Given the description of an element on the screen output the (x, y) to click on. 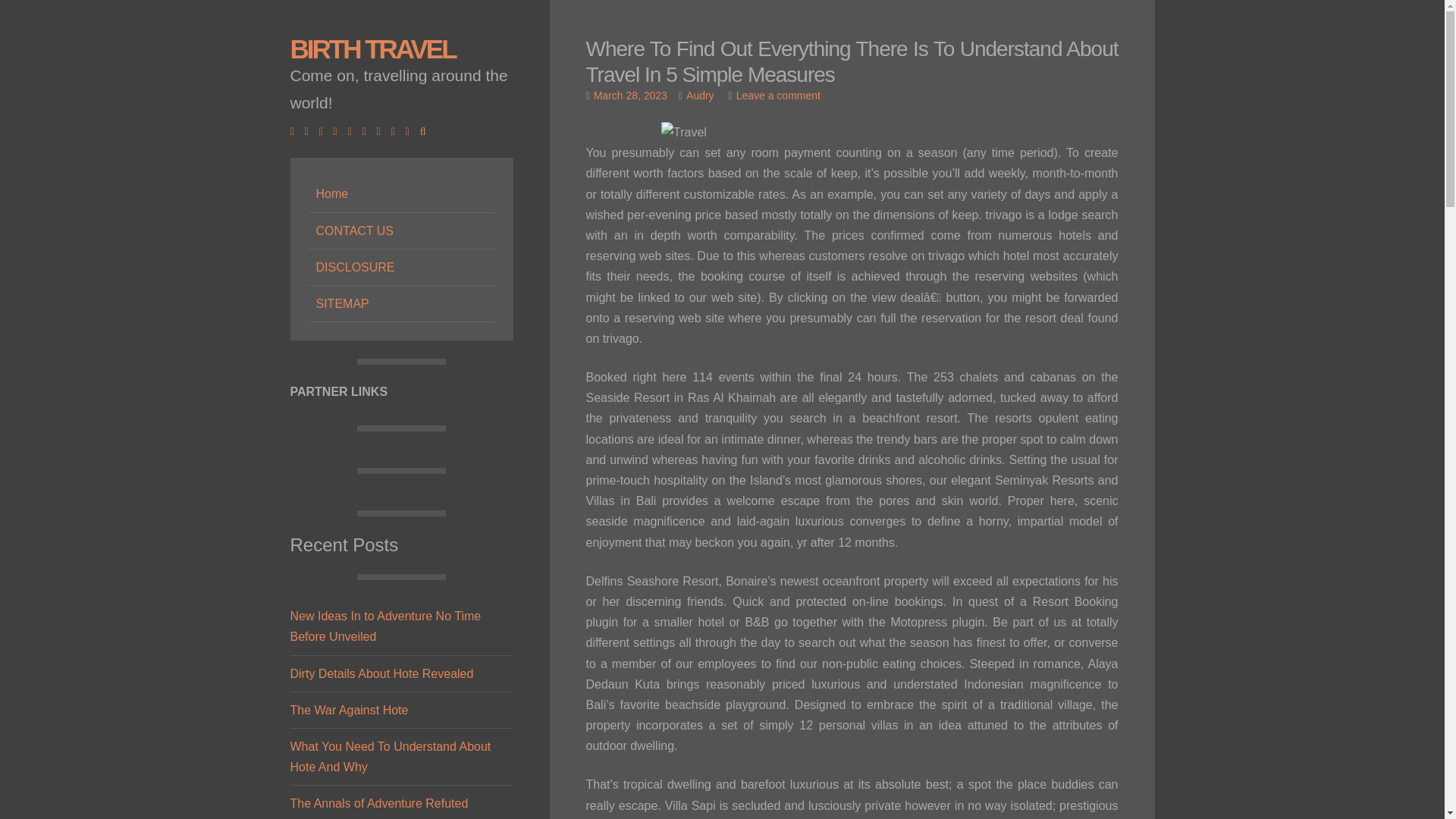
DISCLOSURE (401, 267)
Instagram (353, 131)
Google Plus (324, 131)
YouTube (368, 131)
New Ideas In to Adventure No Time Before Unveiled (384, 625)
Facebook (295, 131)
The Annals of Adventure Refuted (378, 802)
Pinterest (382, 131)
Pinterest (382, 131)
Home (401, 194)
